Given the description of an element on the screen output the (x, y) to click on. 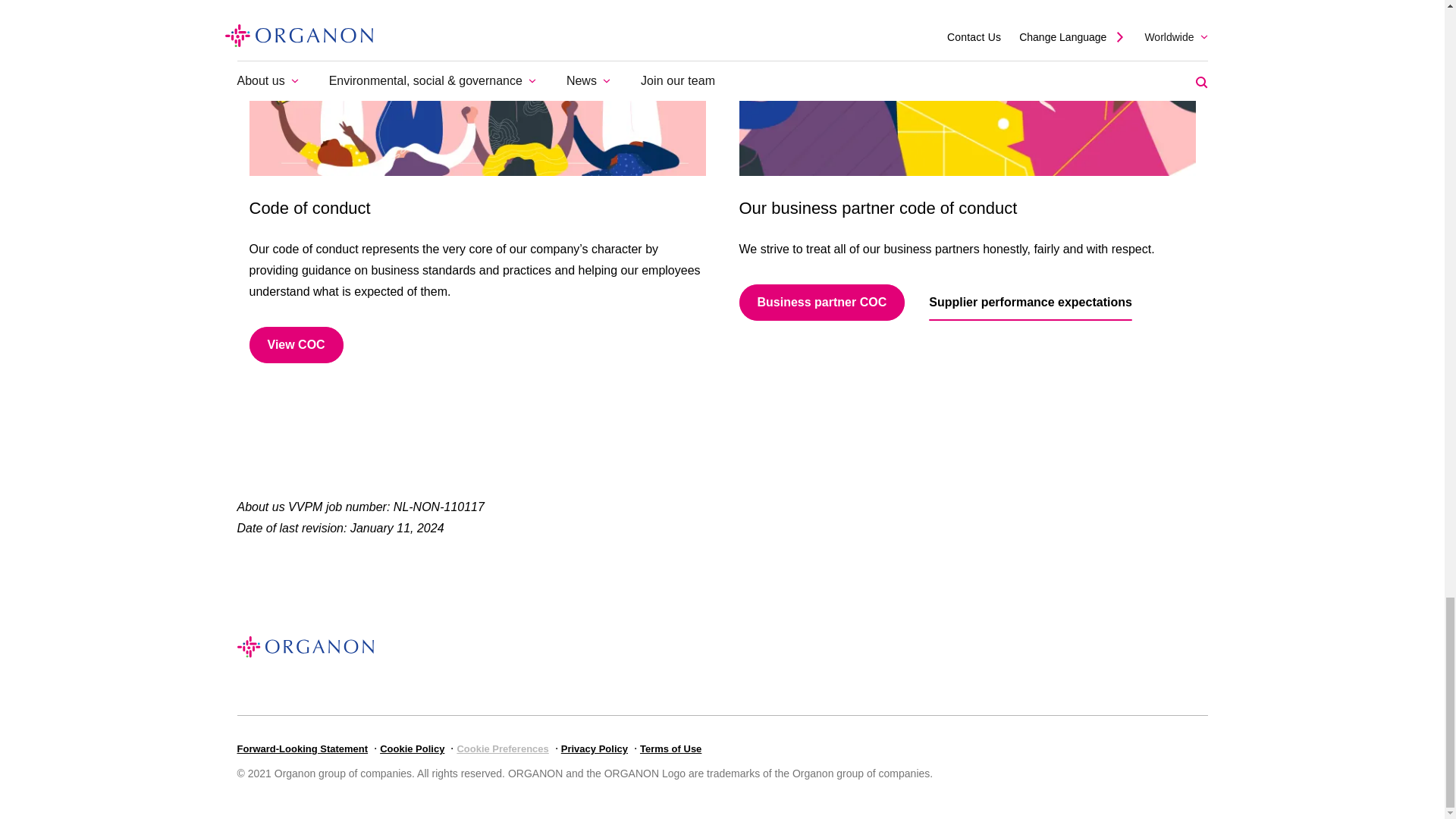
Supplier performance expectations (1030, 302)
View COC (295, 344)
Business partner COC (821, 302)
